Given the description of an element on the screen output the (x, y) to click on. 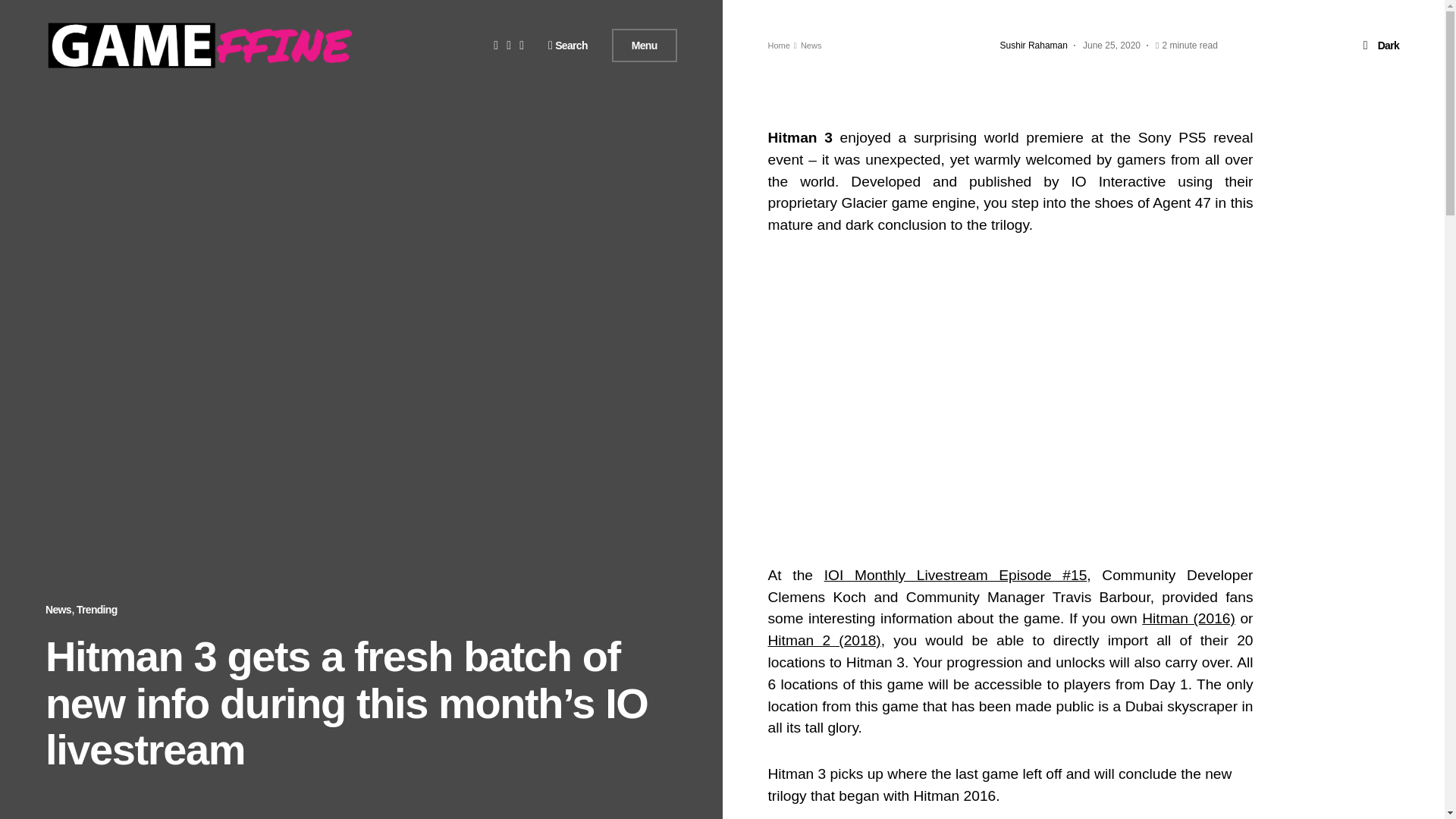
HITMAN 3 - Announcement Trailer (1009, 397)
View all posts by Sushir Rahaman (1033, 45)
News (58, 609)
Trending (97, 609)
